Given the description of an element on the screen output the (x, y) to click on. 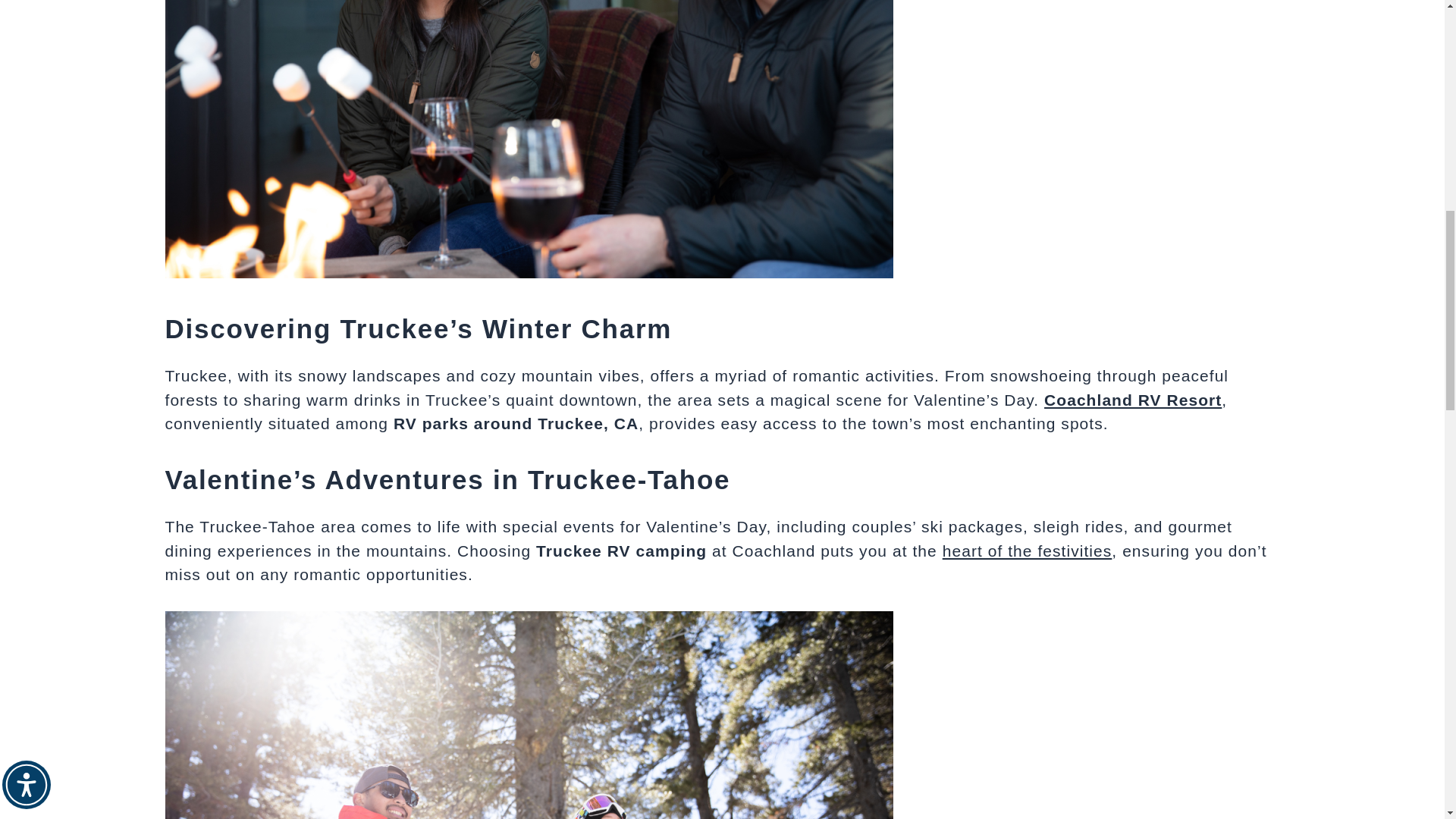
heart of the festivities (1027, 550)
Coachland RV Resort (1132, 399)
